Given the description of an element on the screen output the (x, y) to click on. 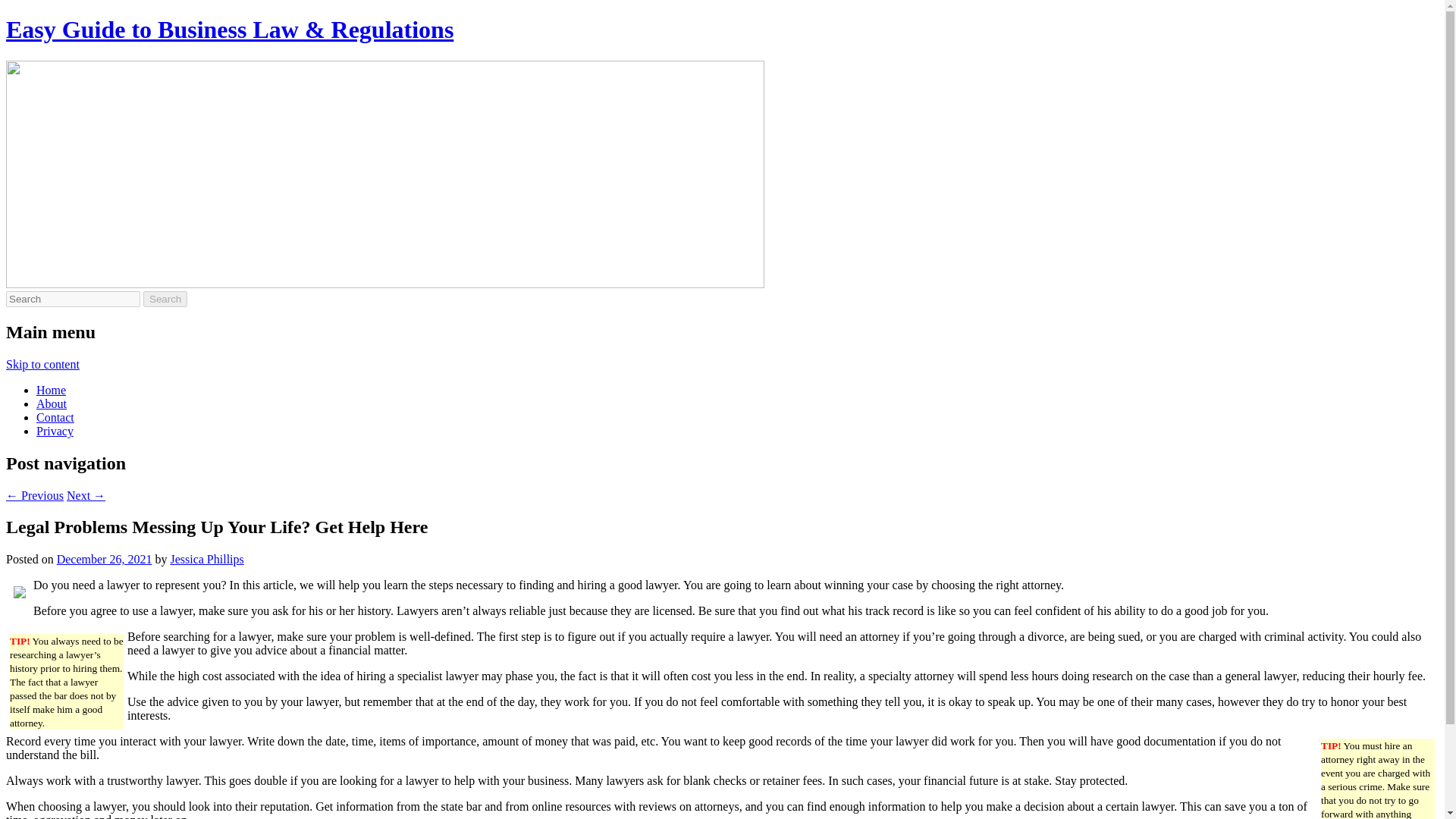
Privacy (55, 431)
About (51, 403)
Search (164, 299)
Skip to content (42, 364)
Skip to content (42, 364)
Contact (55, 417)
Search (164, 299)
View all posts by Jessica Phillips (206, 558)
December 26, 2021 (104, 558)
Jessica Phillips (206, 558)
